Given the description of an element on the screen output the (x, y) to click on. 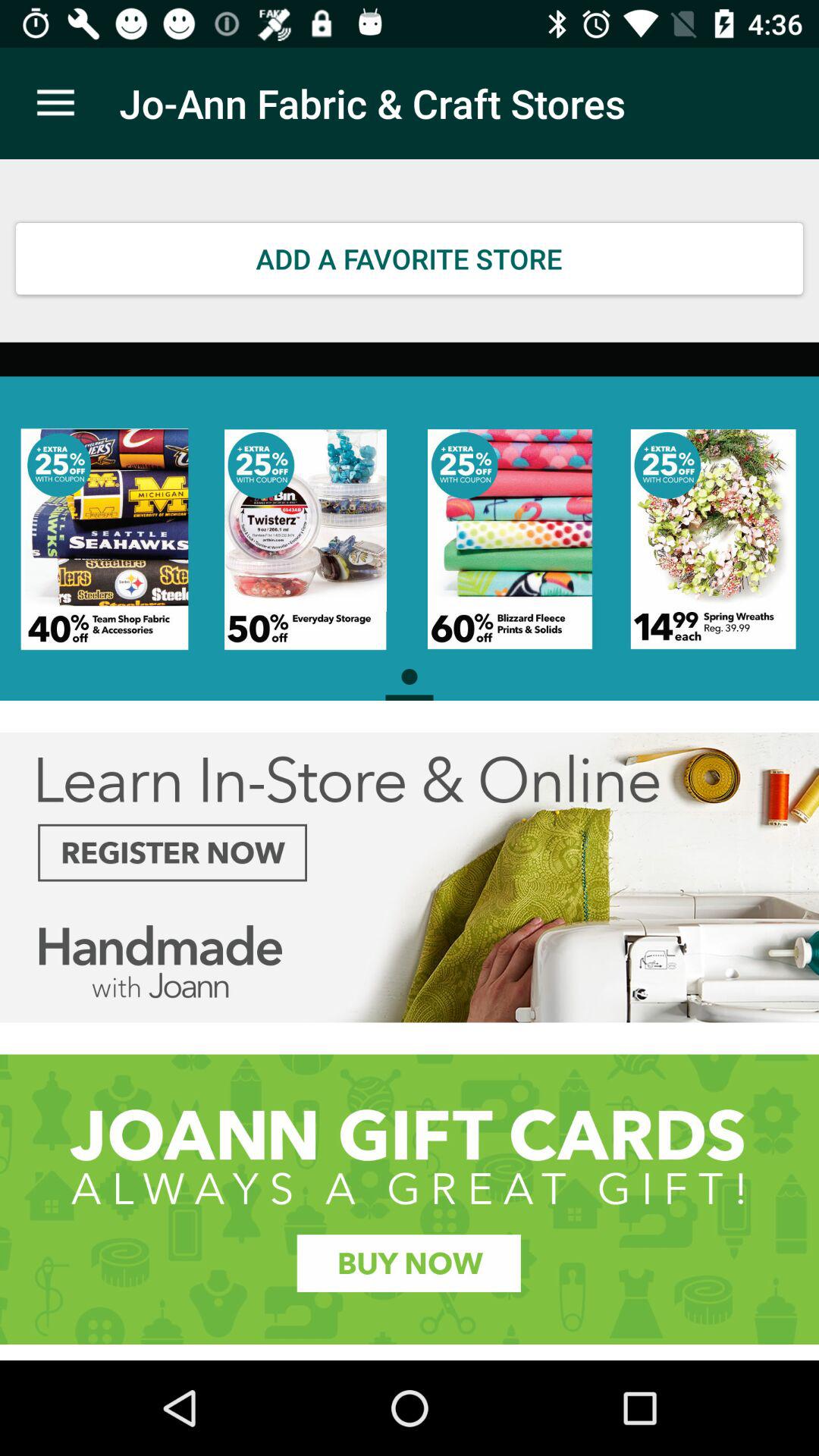
register for program (409, 877)
